Given the description of an element on the screen output the (x, y) to click on. 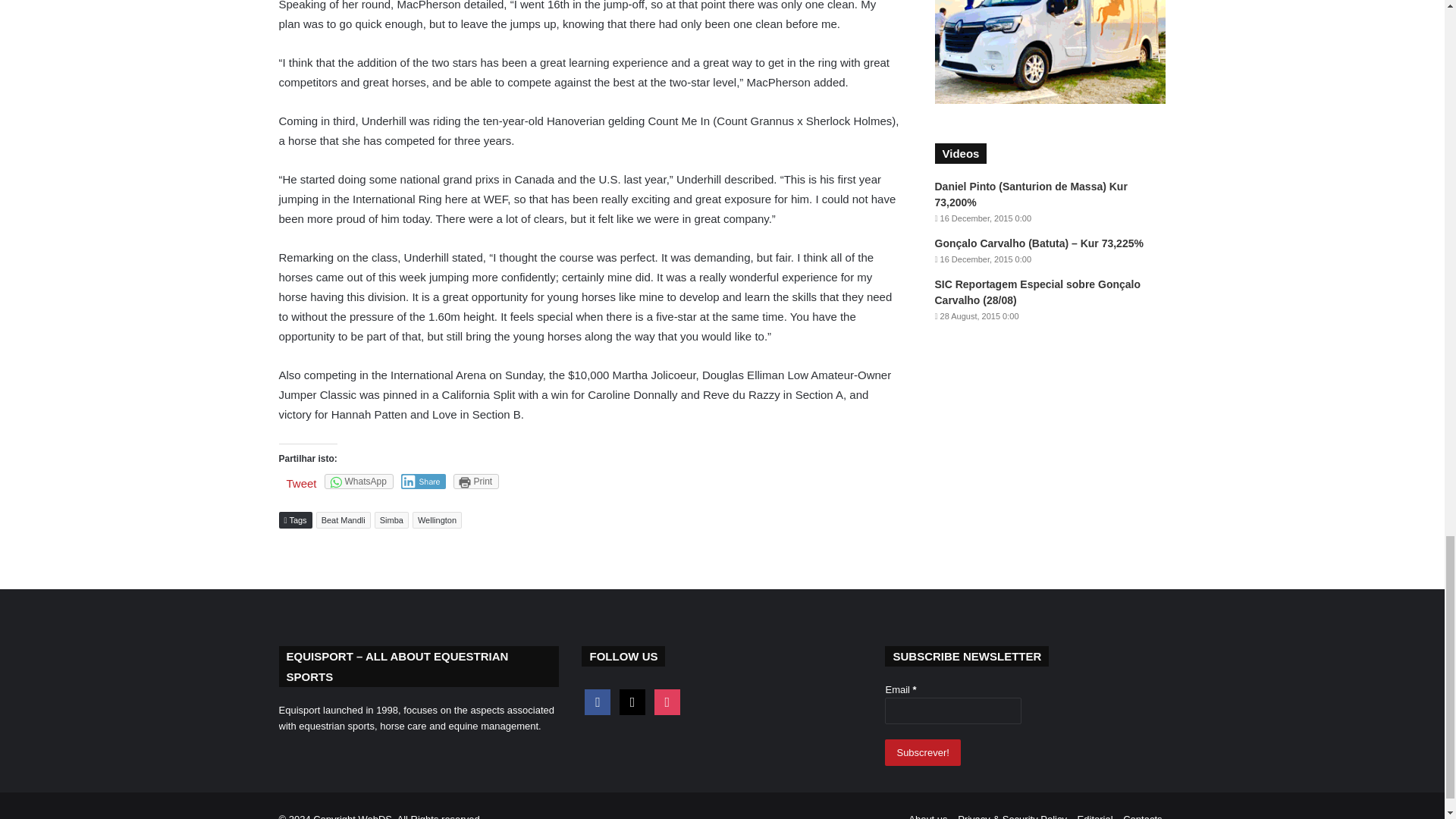
Tweet (301, 482)
Friend me on Facebook (597, 700)
Email (953, 710)
Subscrever! (922, 752)
Click to print (475, 481)
Click to share on WhatsApp (358, 481)
